Given the description of an element on the screen output the (x, y) to click on. 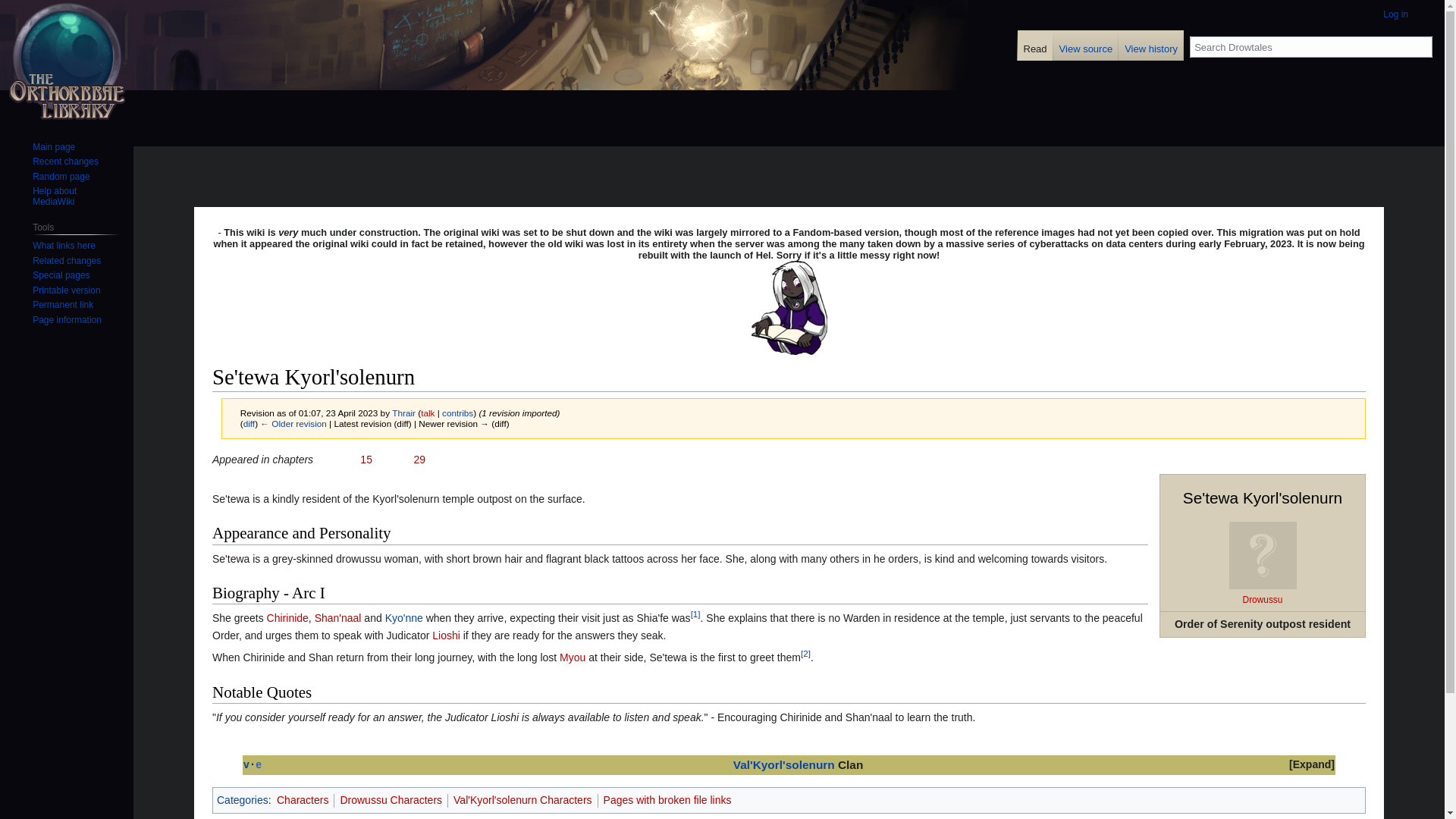
Shan'naal (337, 617)
Search (1420, 46)
Portrait Default.png (1261, 553)
talk (426, 412)
User:Thrair (402, 412)
Chirinide (287, 617)
Val'Kyorl'solenurn (783, 764)
Val'Kyorl'solenurn (783, 764)
29 (419, 459)
Kyo'nne (404, 617)
